Given the description of an element on the screen output the (x, y) to click on. 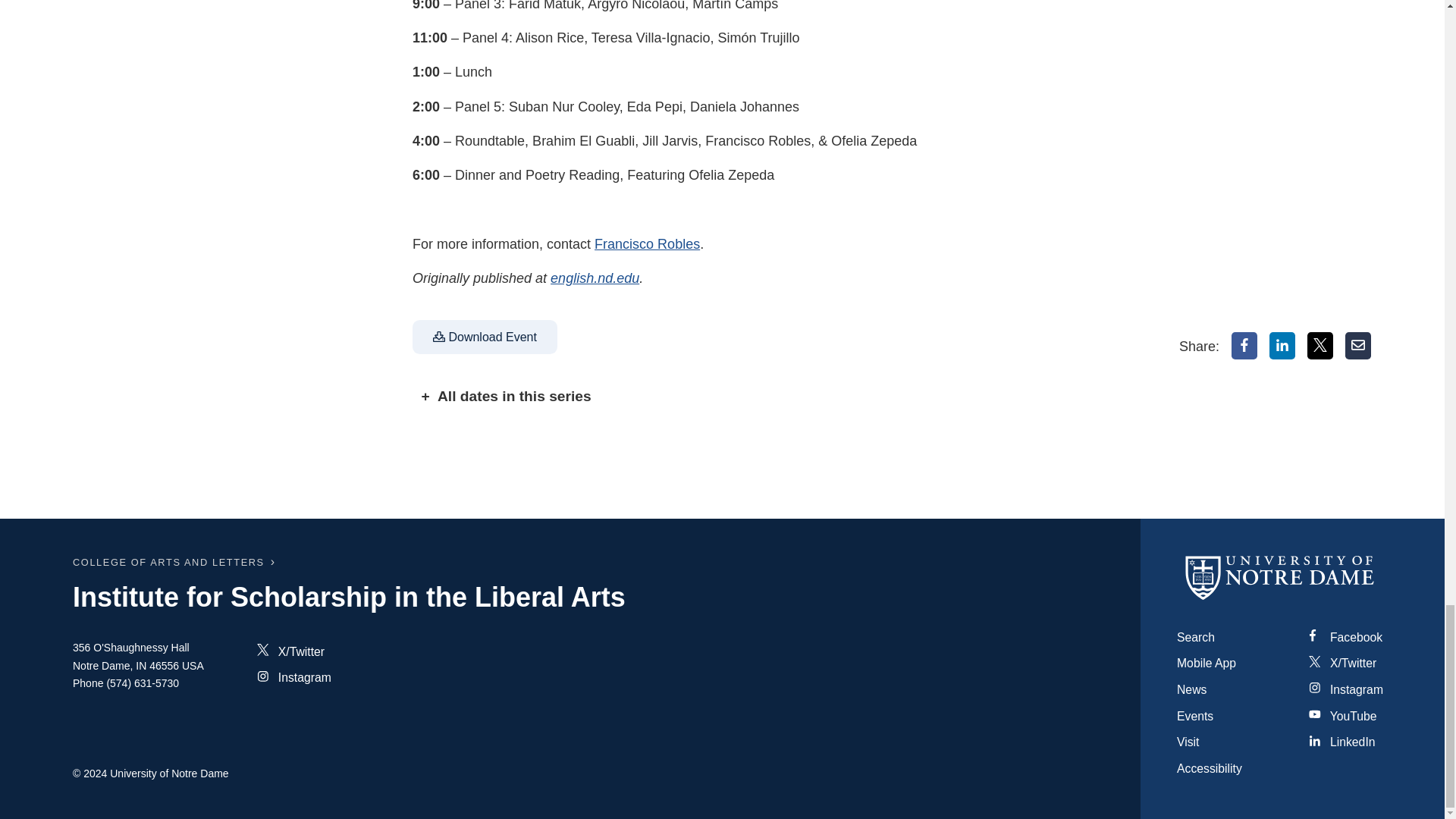
Francisco Robles (647, 243)
Email (1358, 345)
english.nd.edu (594, 278)
Facebook (1244, 345)
LinkedIn (1282, 345)
